Given the description of an element on the screen output the (x, y) to click on. 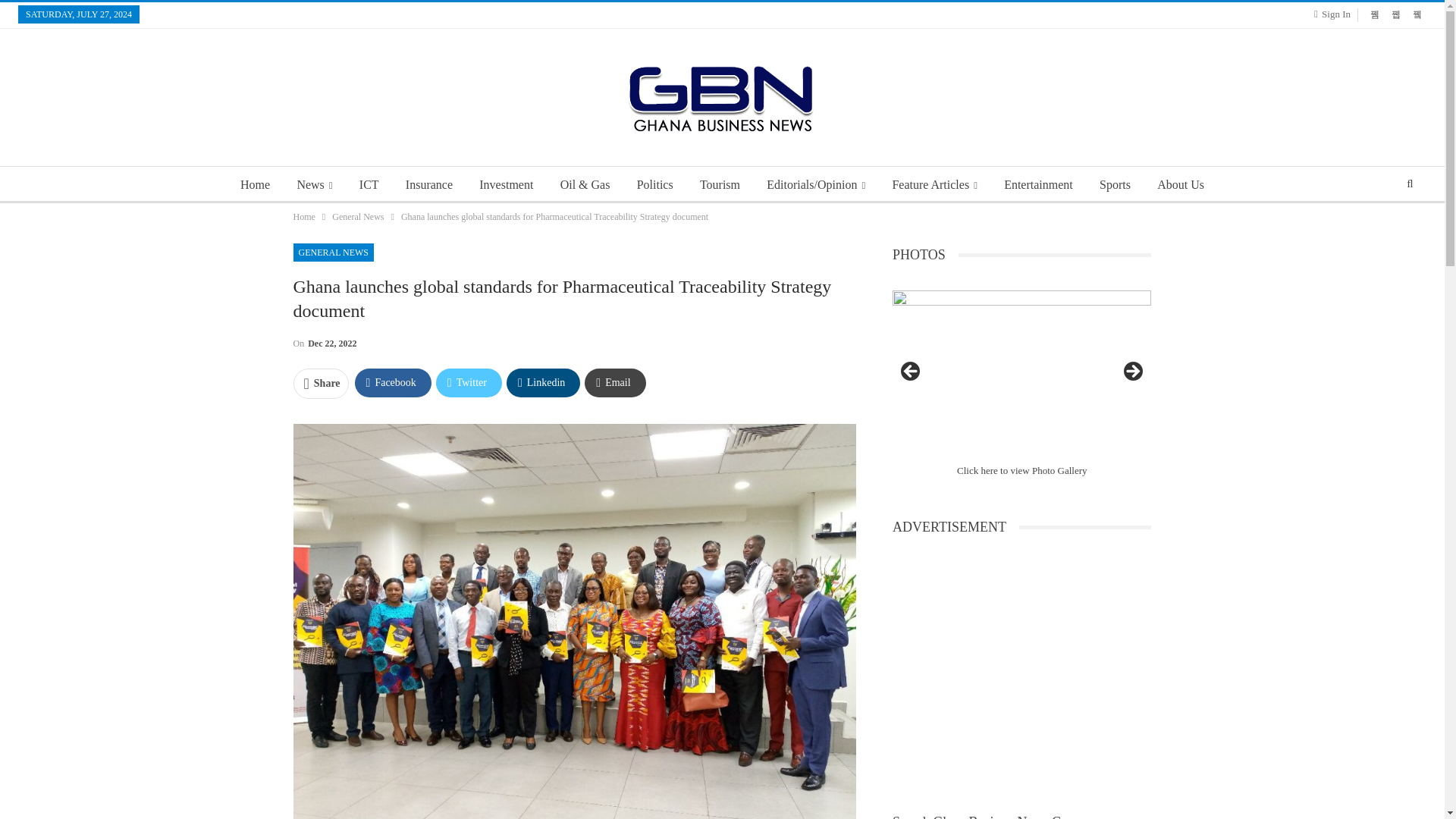
Insurance (428, 185)
Sports (1115, 185)
Entertainment (1037, 185)
Twitter (468, 382)
News (313, 185)
Tourism (719, 185)
ICT (369, 185)
Politics (654, 185)
Sign In (1335, 13)
Home (303, 216)
Investment (505, 185)
Facebook (392, 382)
Linkedin (542, 382)
General News (357, 216)
Email (615, 382)
